Given the description of an element on the screen output the (x, y) to click on. 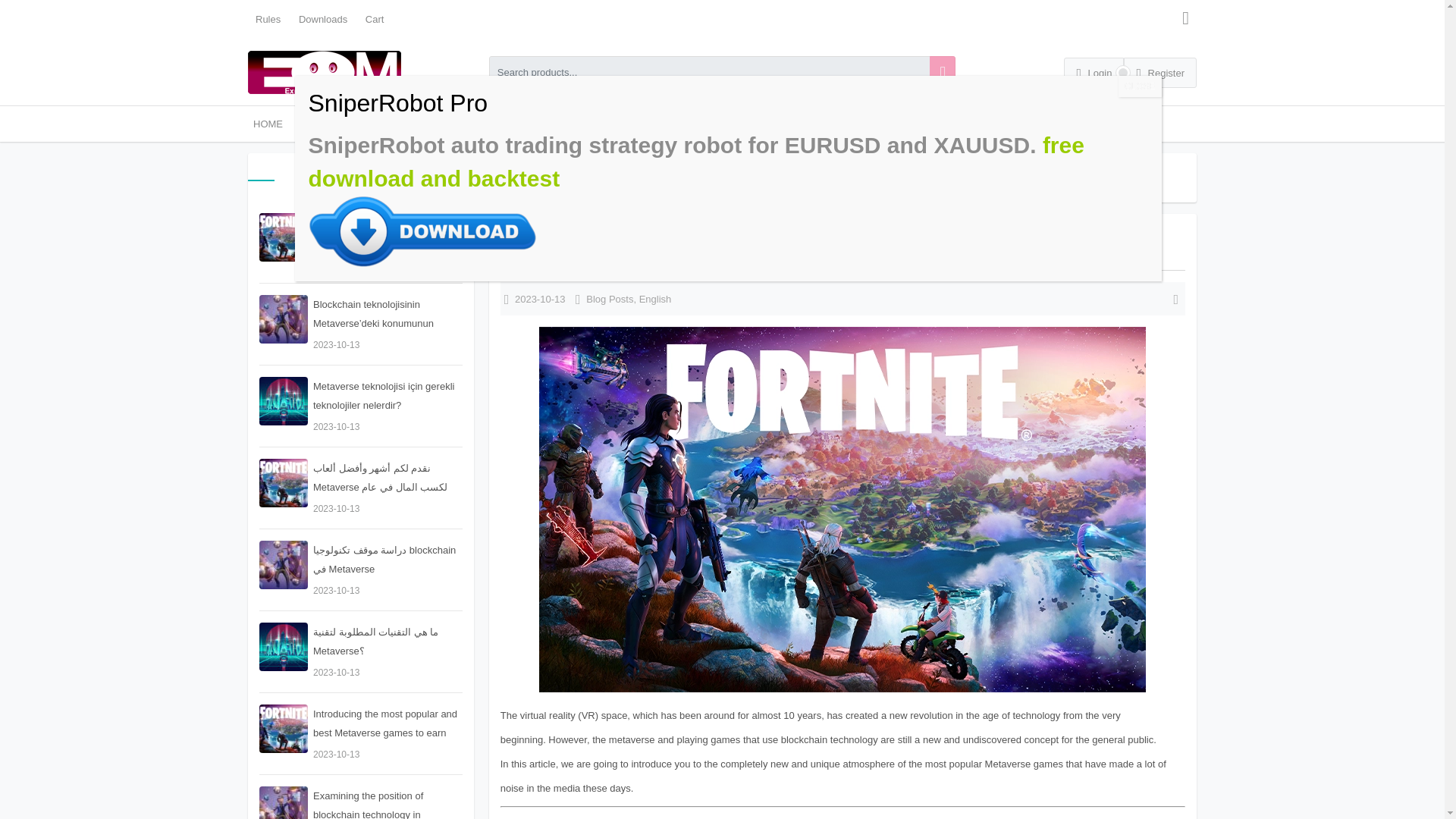
Home (513, 178)
Login (1094, 72)
Rules (267, 19)
Robots (315, 123)
News (402, 124)
Examining the position of blockchain technology in Metaverse (361, 802)
Examining the position of blockchain technology in Metaverse (361, 802)
Register (1160, 72)
HOME (267, 124)
Blog (362, 123)
Contact Us (451, 124)
Downloads (323, 19)
Blog Posts (609, 299)
